Given the description of an element on the screen output the (x, y) to click on. 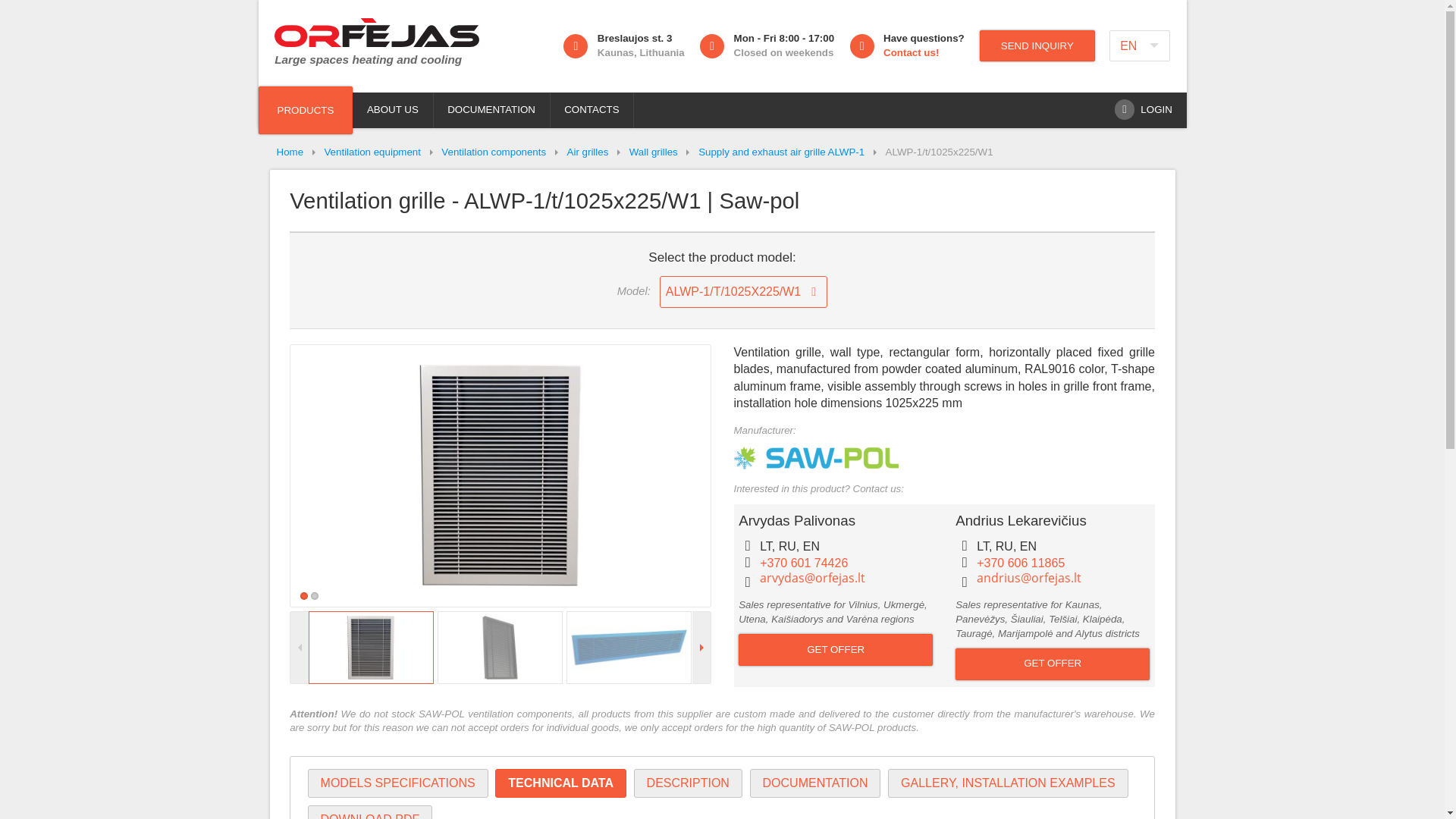
SEND INQUIRY (1036, 45)
PRODUCTS (913, 44)
Large spaces heating and cooling (304, 110)
EN (377, 51)
